Given the description of an element on the screen output the (x, y) to click on. 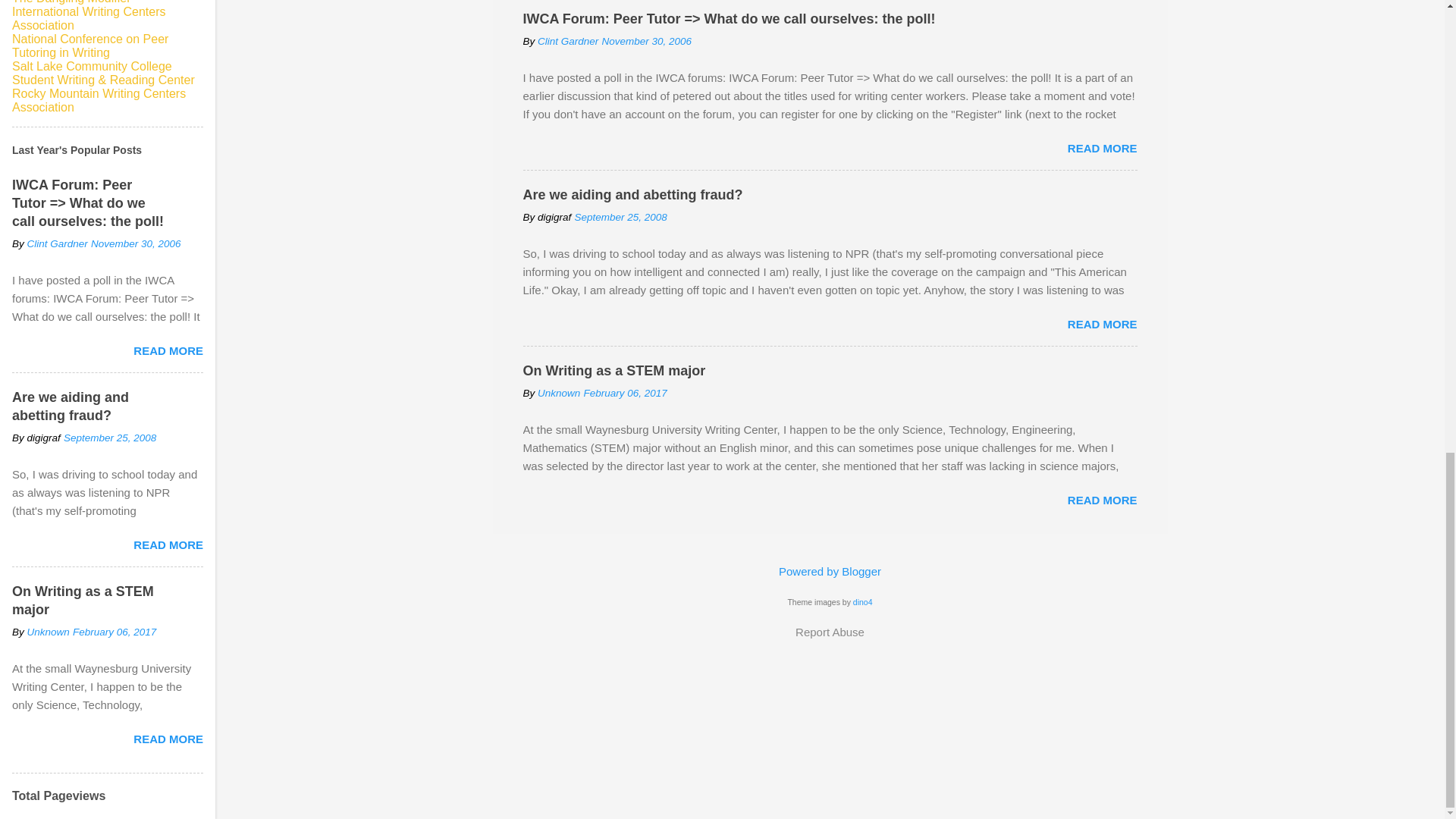
READ MORE (1102, 499)
dino4 (862, 601)
Powered by Blogger (829, 571)
READ MORE (1102, 323)
READ MORE (1102, 147)
September 25, 2008 (619, 216)
On Writing as a STEM major (614, 370)
February 06, 2017 (624, 392)
Are we aiding and abetting fraud? (632, 194)
November 30, 2006 (646, 41)
Clint Gardner (567, 41)
Unknown (558, 392)
Report Abuse (829, 632)
